Given the description of an element on the screen output the (x, y) to click on. 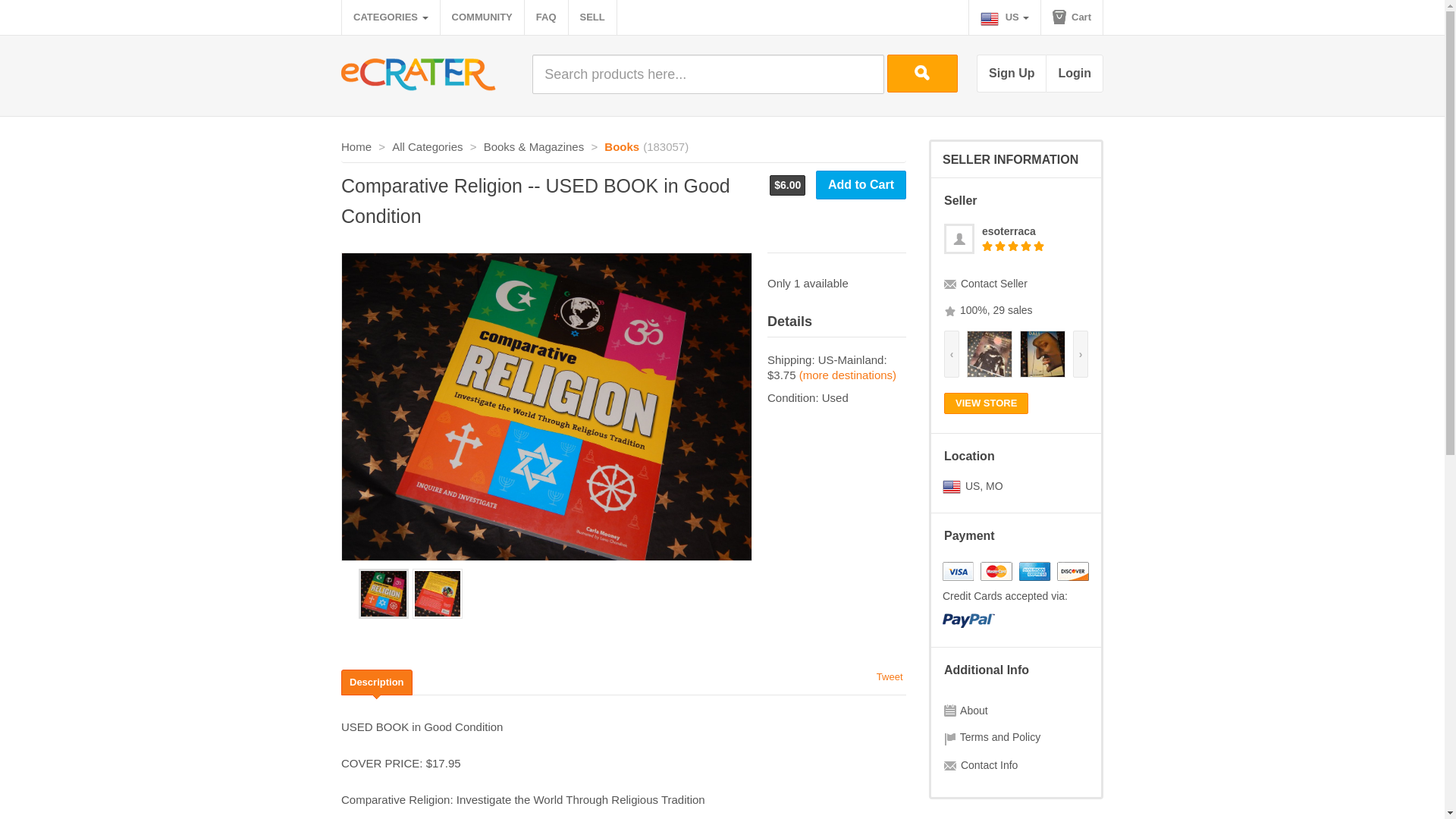
SELL (592, 17)
COMMUNITY (482, 17)
CATEGORIES (390, 17)
FAQ (545, 17)
US (1005, 17)
